Given the description of an element on the screen output the (x, y) to click on. 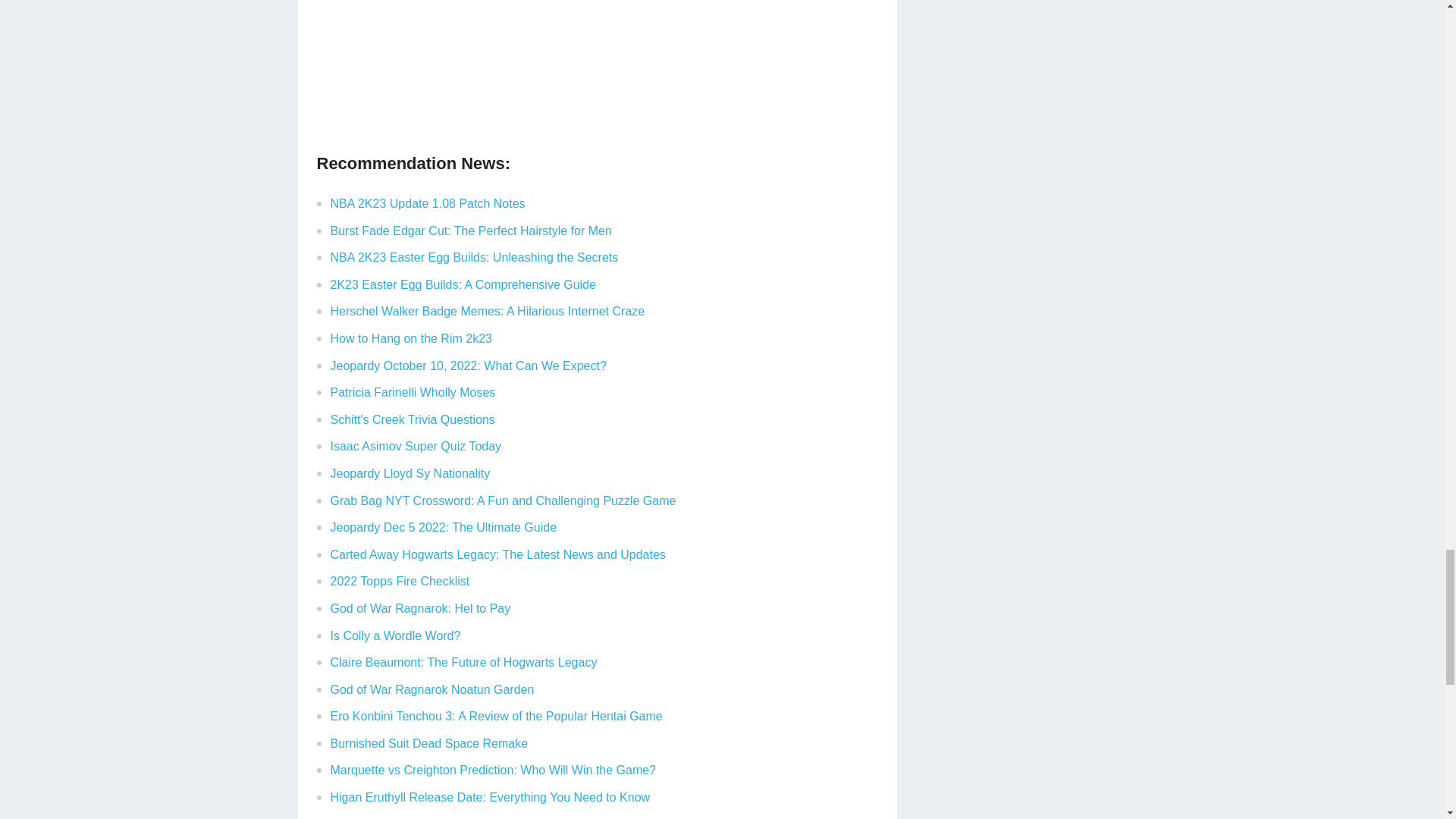
God of War Ragnarok: Hel to Pay (420, 608)
Isaac Asimov Super Quiz Today (416, 445)
Patricia Farinelli Wholly Moses (413, 391)
Ero Konbini Tenchou 3: A Review of the Popular Hentai Game (496, 716)
Jeopardy October 10, 2022: What Can We Expect? (468, 365)
NBA 2K23 Update 1.08 Patch Notes (427, 203)
Is Colly a Wordle Word? (395, 635)
God of War Ragnarok Noatun Garden (432, 689)
NBA 2K23 Easter Egg Builds: Unleashing the Secrets (474, 256)
Burnished Suit Dead Space Remake (429, 743)
Schitt's Creek Trivia Questions (412, 419)
Grab Bag NYT Crossword: A Fun and Challenging Puzzle Game (503, 500)
Jeopardy Dec 5 2022: The Ultimate Guide (443, 526)
How to Hang on the Rim 2k23 (411, 338)
Carted Away Hogwarts Legacy: The Latest News and Updates (497, 554)
